Given the description of an element on the screen output the (x, y) to click on. 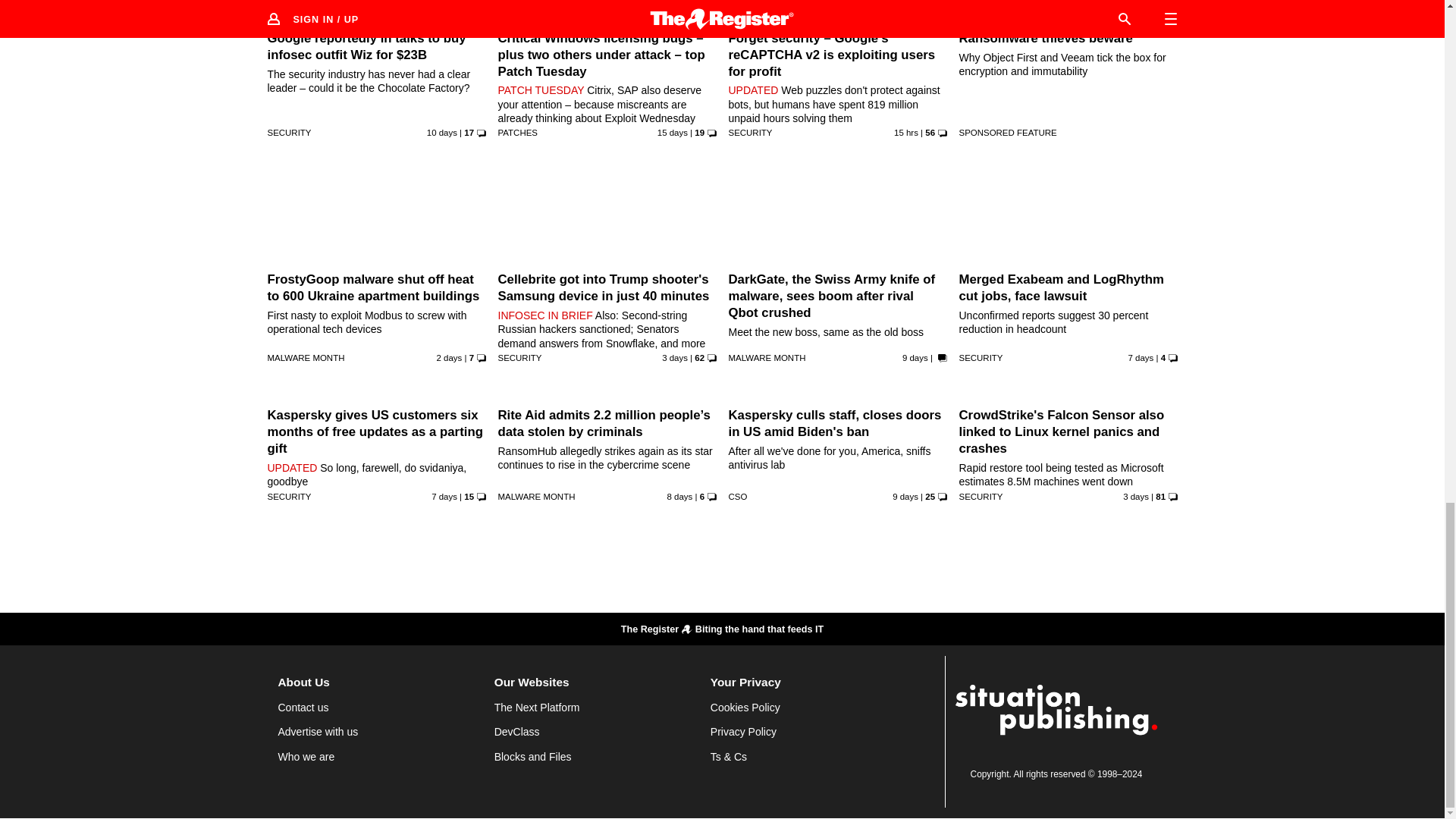
10 Jul 2024 0:59 (672, 132)
16 Jul 2024 0:15 (915, 357)
15 Jul 2024 4:39 (441, 132)
16 Jul 2024 13:30 (679, 496)
17 Jul 2024 18:20 (443, 496)
23 Jul 2024 9:0 (449, 357)
17 Jul 2024 23:27 (1141, 357)
22 Jul 2024 3:44 (674, 357)
24 Jul 2024 6:33 (905, 132)
